Given the description of an element on the screen output the (x, y) to click on. 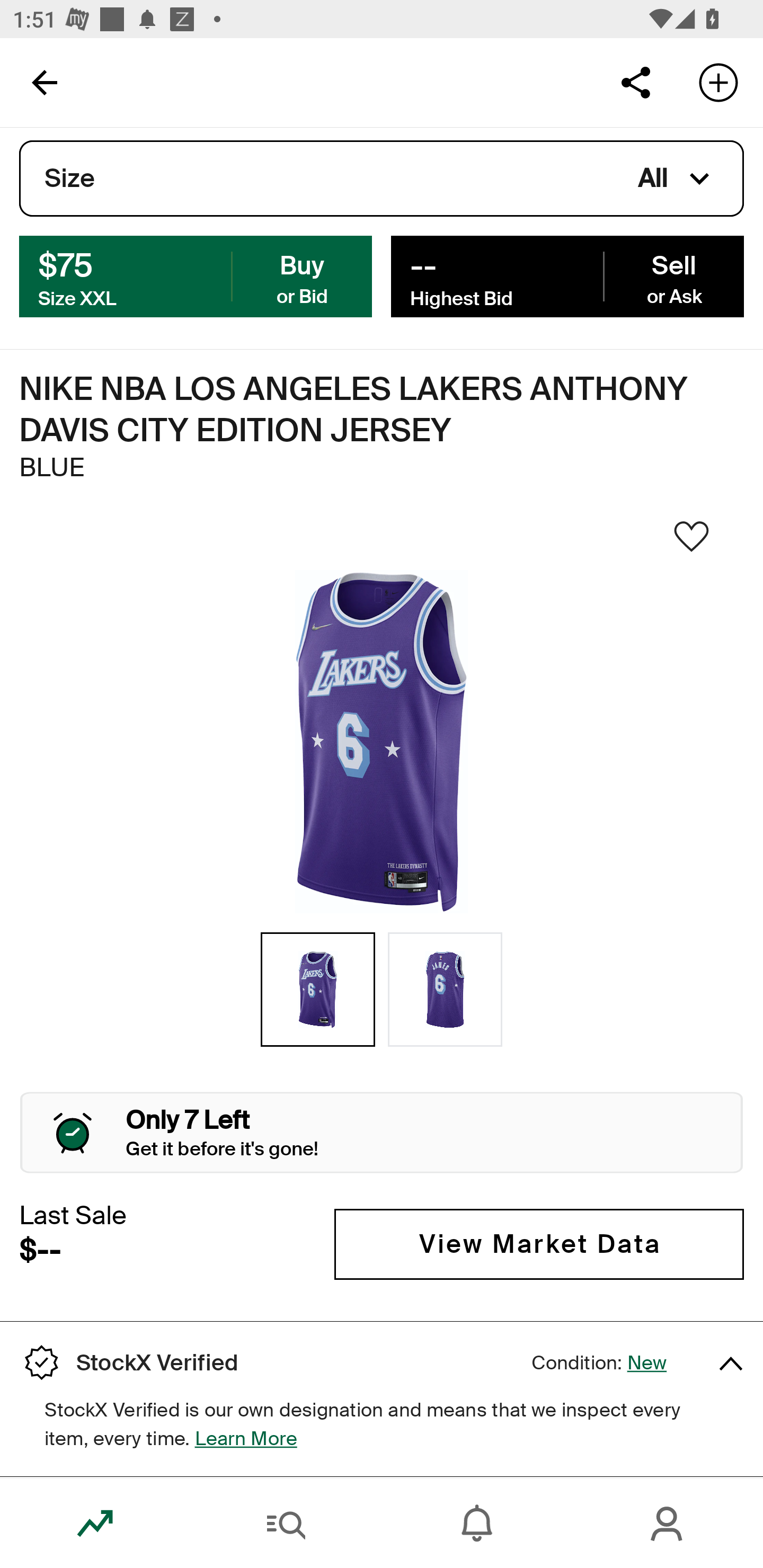
Share (635, 81)
Add (718, 81)
Size All (381, 178)
$104 Buy Size S or Bid (195, 275)
$178 Sell Size XS or Ask (566, 275)
Sneaker Image (381, 741)
View Market Data (538, 1243)
Search (285, 1523)
Inbox (476, 1523)
Account (667, 1523)
